Given the description of an element on the screen output the (x, y) to click on. 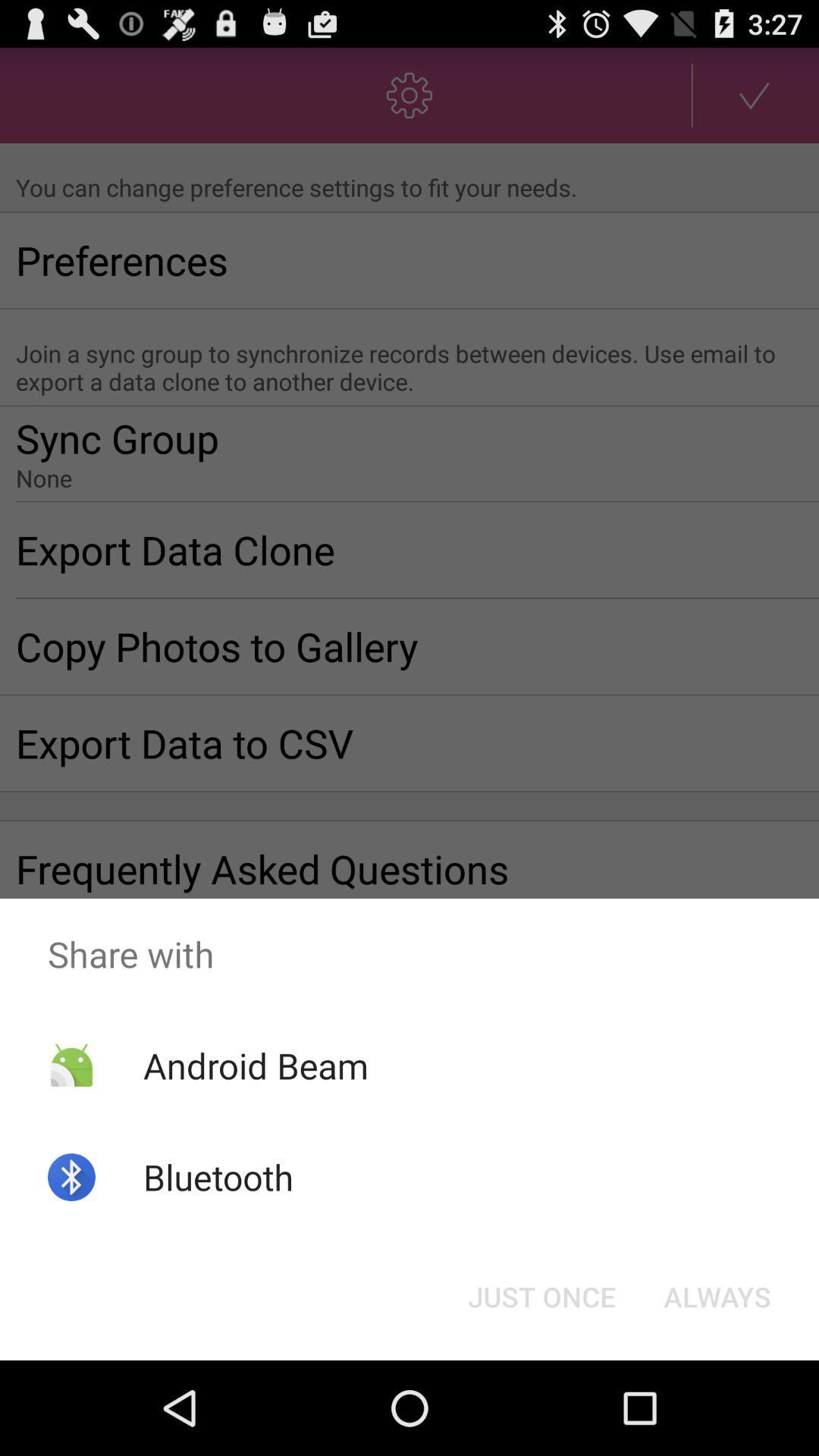
turn on the bluetooth (218, 1176)
